Given the description of an element on the screen output the (x, y) to click on. 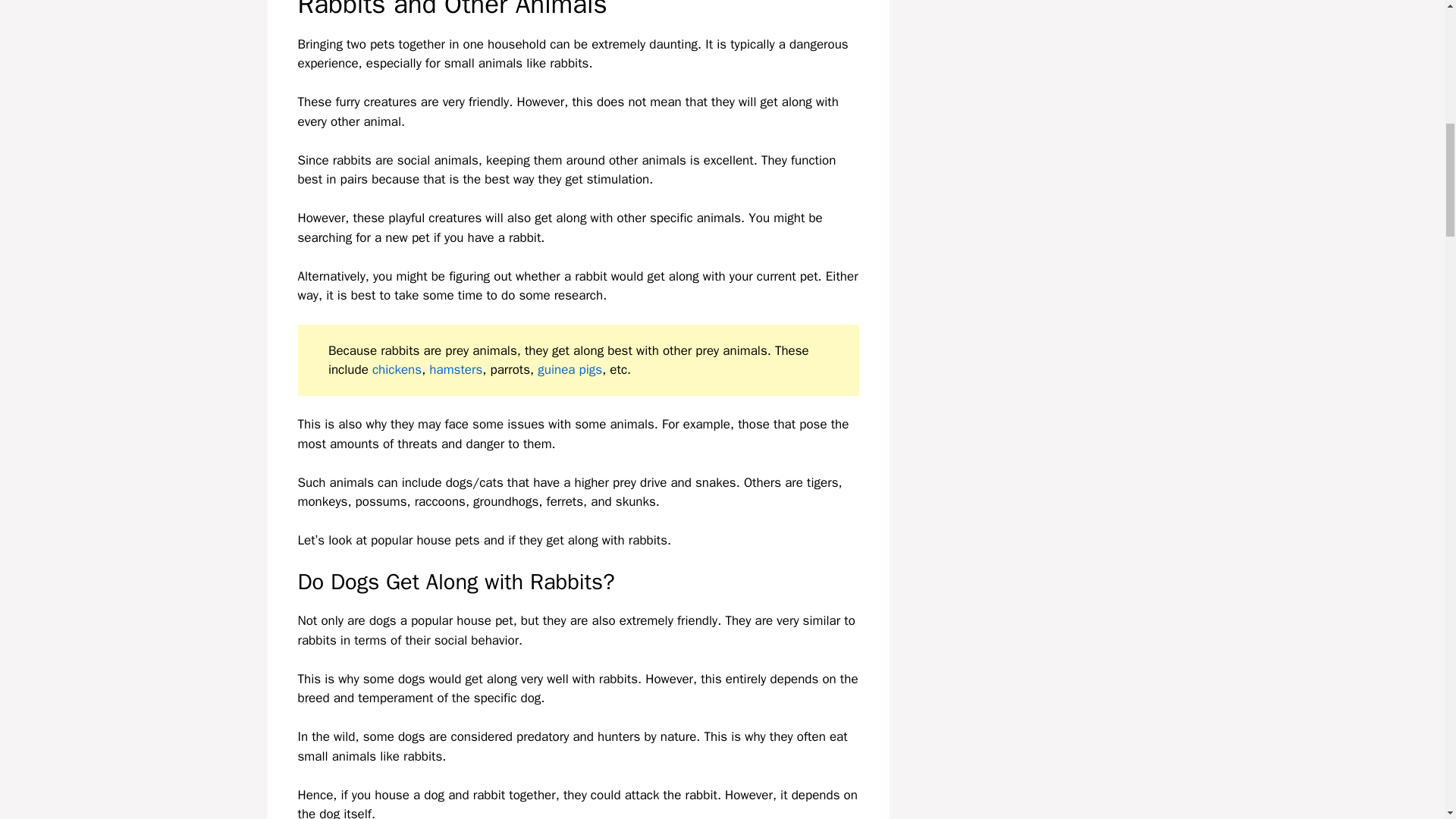
guinea pigs (569, 369)
chickens (397, 369)
hamsters (455, 369)
